Given the description of an element on the screen output the (x, y) to click on. 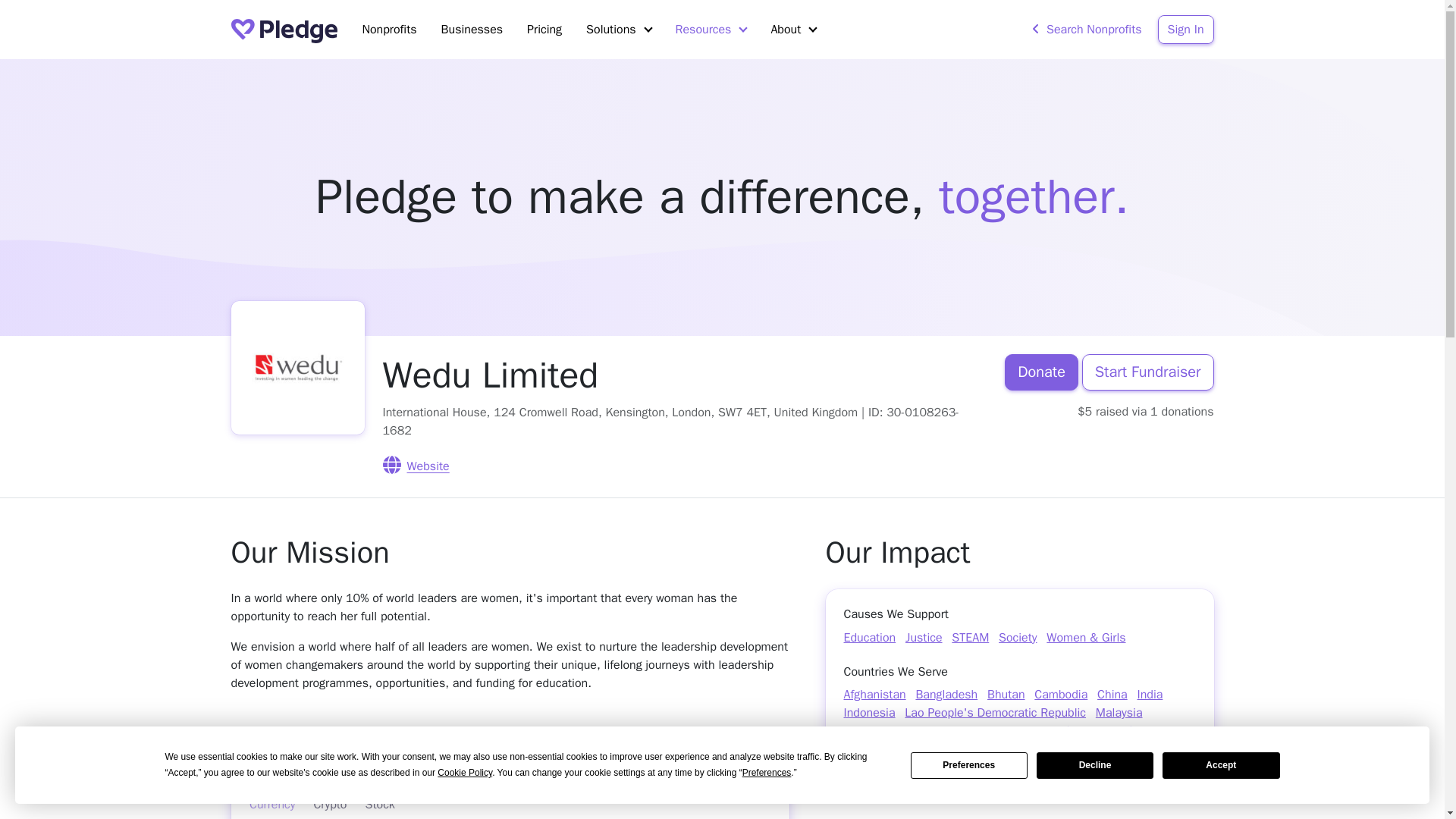
Resources (710, 29)
Preferences (969, 765)
Decline (1094, 765)
Donate Now (509, 764)
Solutions (617, 29)
Accept (1220, 765)
Businesses (472, 29)
Search Nonprofits (1086, 29)
About (793, 29)
Donation Form (509, 800)
